Given the description of an element on the screen output the (x, y) to click on. 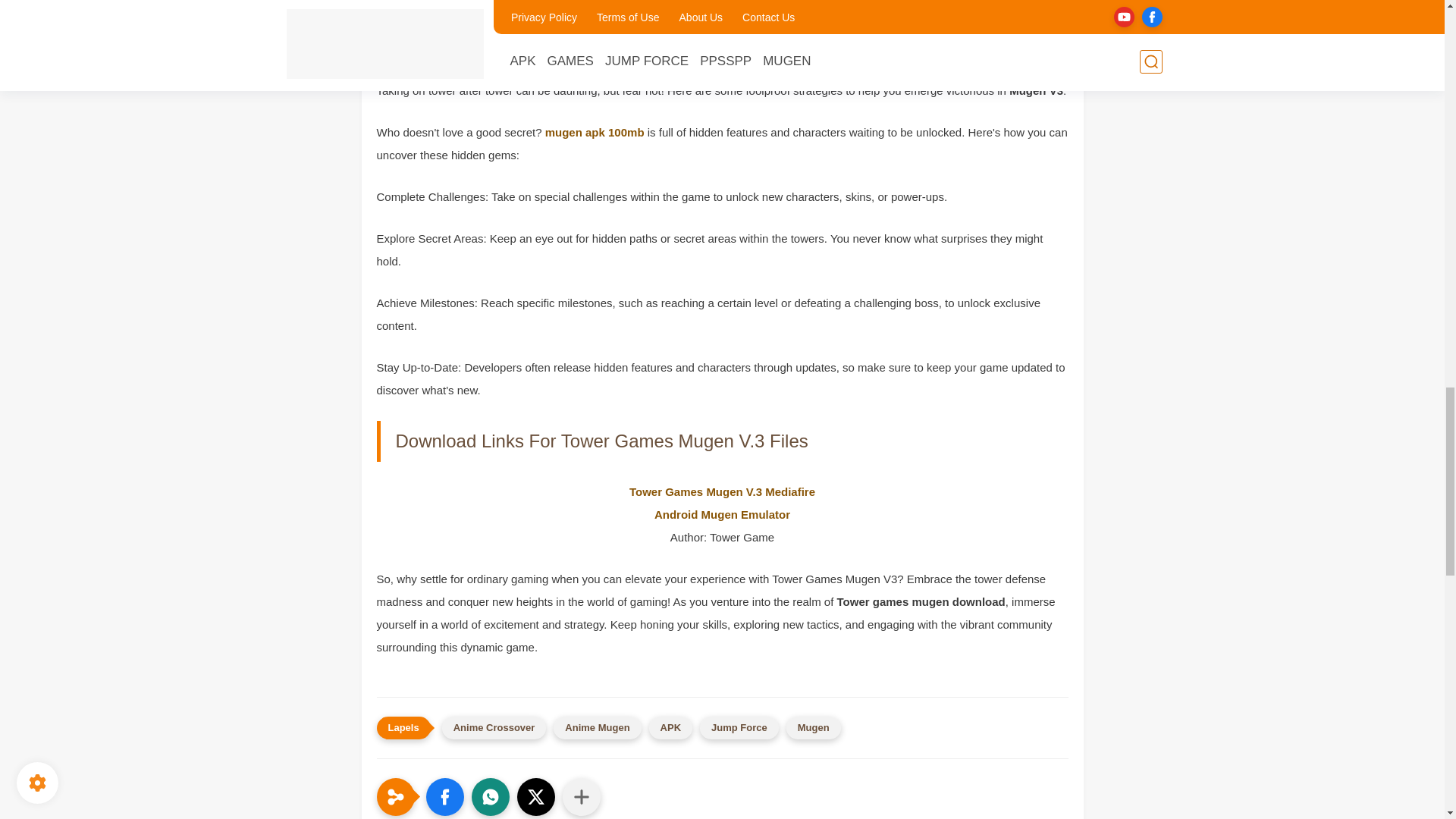
mugen apk 100mb (594, 132)
Anime Crossover (494, 727)
Jump Force (739, 727)
Tower Games Mugen V.3 Mediafire (721, 491)
Anime Crossover (494, 727)
Android Mugen Emulator (721, 513)
Mugen (813, 727)
Anime Mugen (596, 727)
Anime Mugen (596, 727)
APK (671, 727)
